Given the description of an element on the screen output the (x, y) to click on. 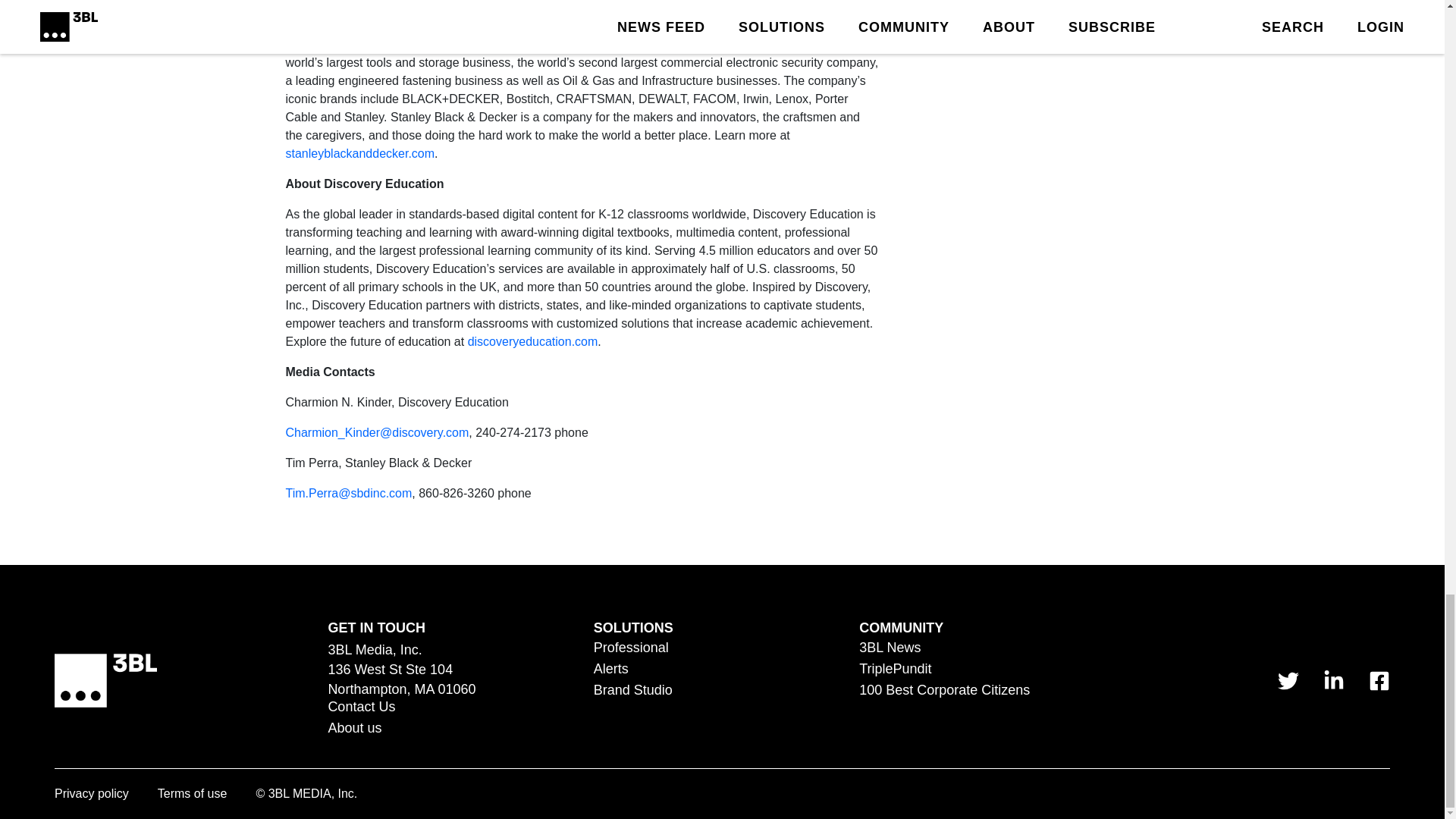
link to 3 B L Media's Twitter (1288, 680)
link to 3 B L Media's Facebook (1379, 680)
link to 3 B L Media's Linkedin (1333, 680)
